Given the description of an element on the screen output the (x, y) to click on. 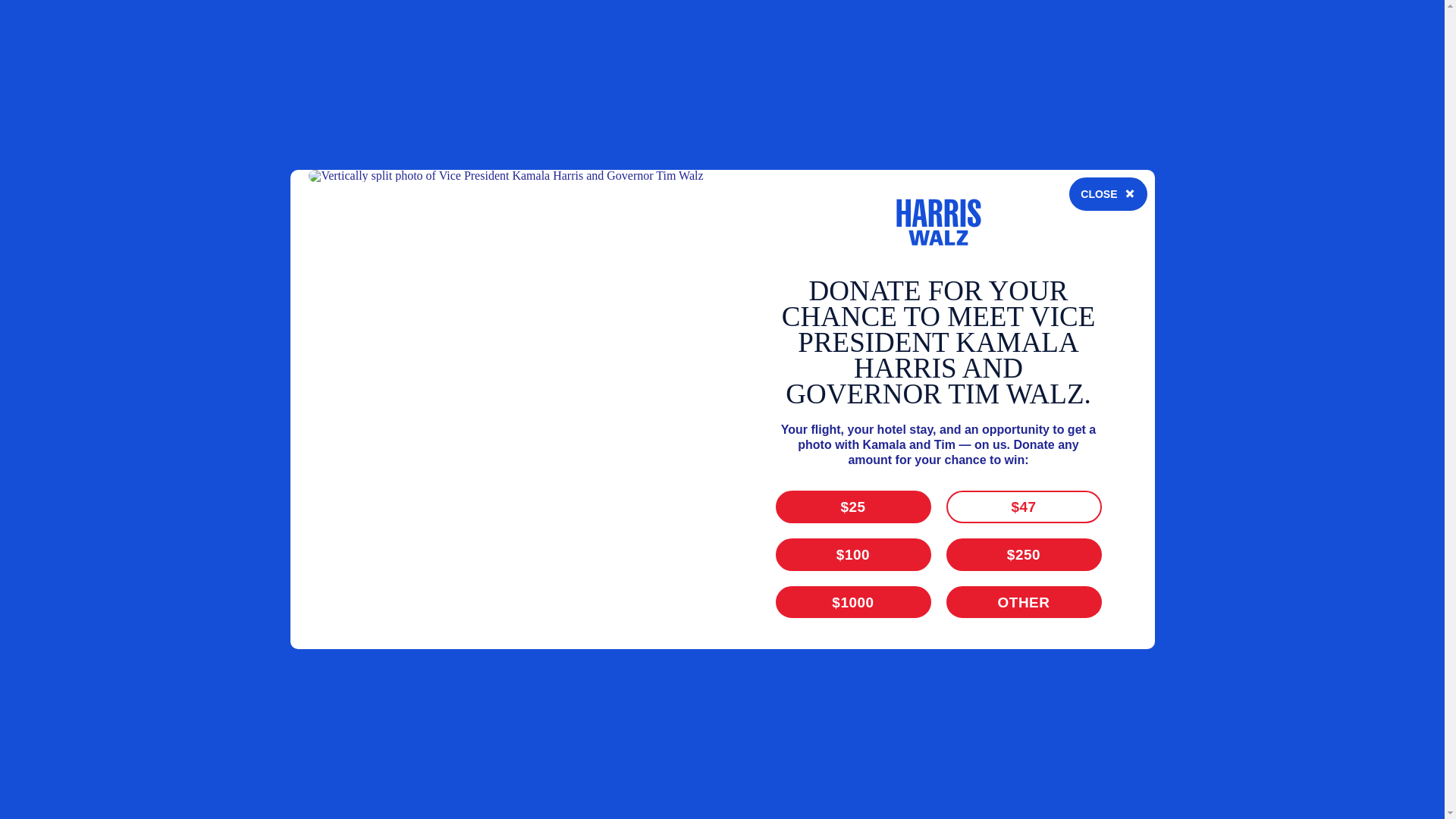
Meet Kamala Harris (720, 226)
DONATE (1154, 225)
Events (1005, 226)
Take Action (934, 226)
Store (1057, 226)
OTHER (1049, 61)
Meet Tim Walz (839, 226)
